Given the description of an element on the screen output the (x, y) to click on. 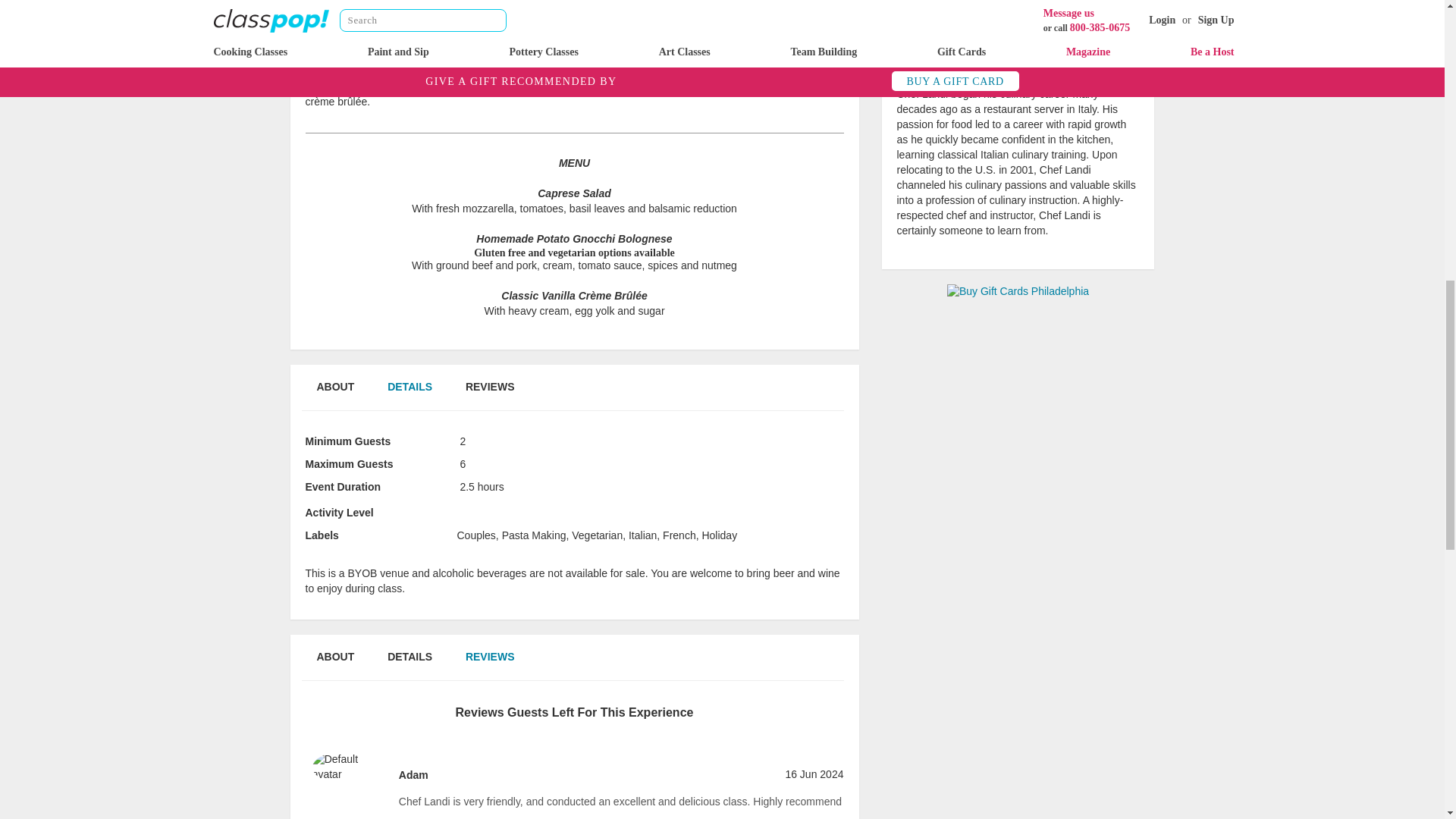
A mix of chef demonstration and hands-on cooking (499, 506)
38 reviews (1017, 71)
REVIEWS (489, 657)
REVIEWS (489, 388)
ABOUT (334, 657)
ABOUT (334, 388)
DETAILS (409, 657)
DETAILS (409, 388)
